Given the description of an element on the screen output the (x, y) to click on. 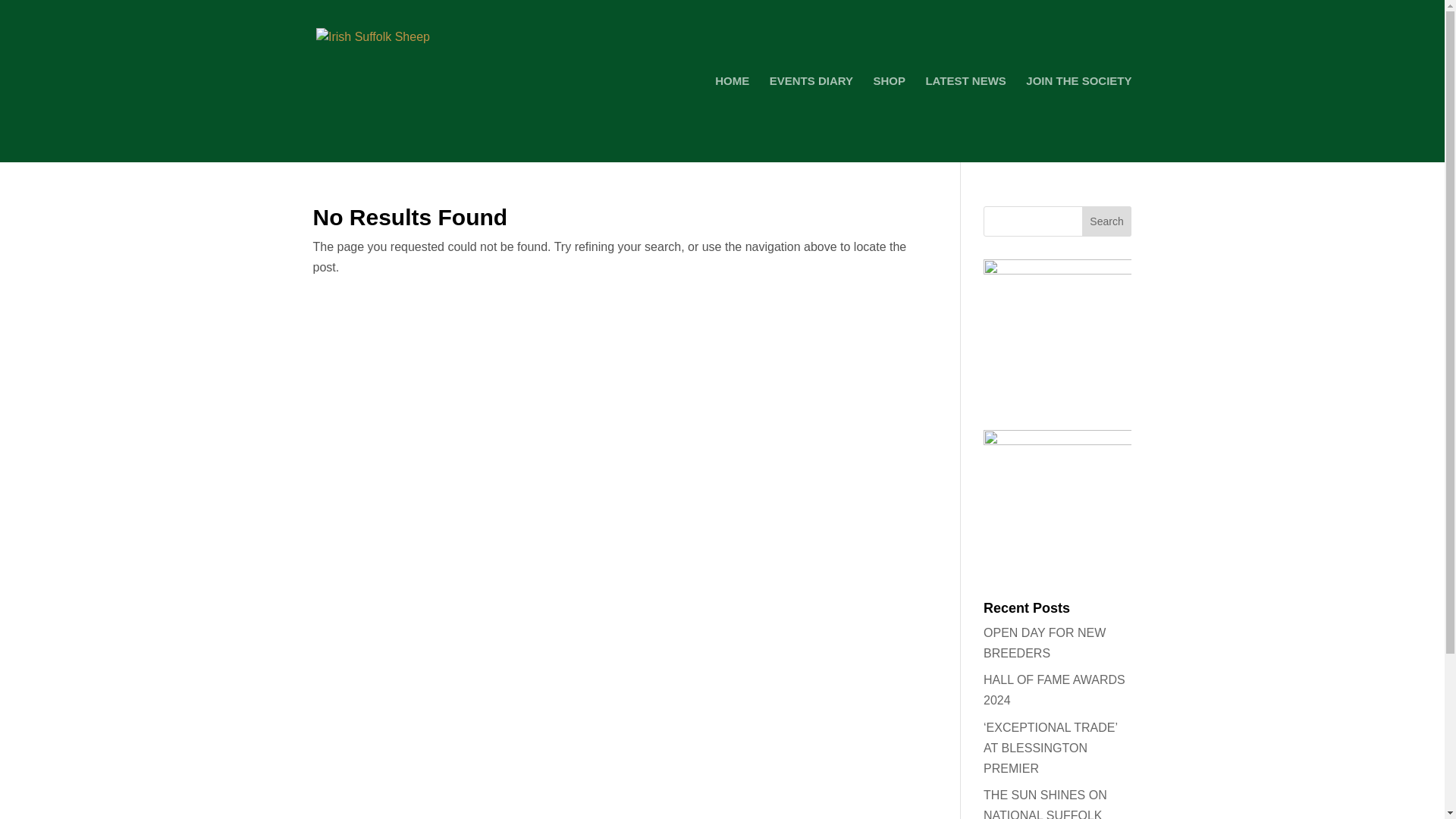
Search (1106, 221)
THE SUN SHINES ON NATIONAL SUFFOLK CHAMPIONSHIPS (1045, 803)
LATEST NEWS (965, 119)
OPEN DAY FOR NEW BREEDERS (1044, 643)
Search (1106, 221)
HALL OF FAME AWARDS 2024 (1054, 689)
EVENTS DIARY (811, 119)
JOIN THE SOCIETY (1078, 119)
